Given the description of an element on the screen output the (x, y) to click on. 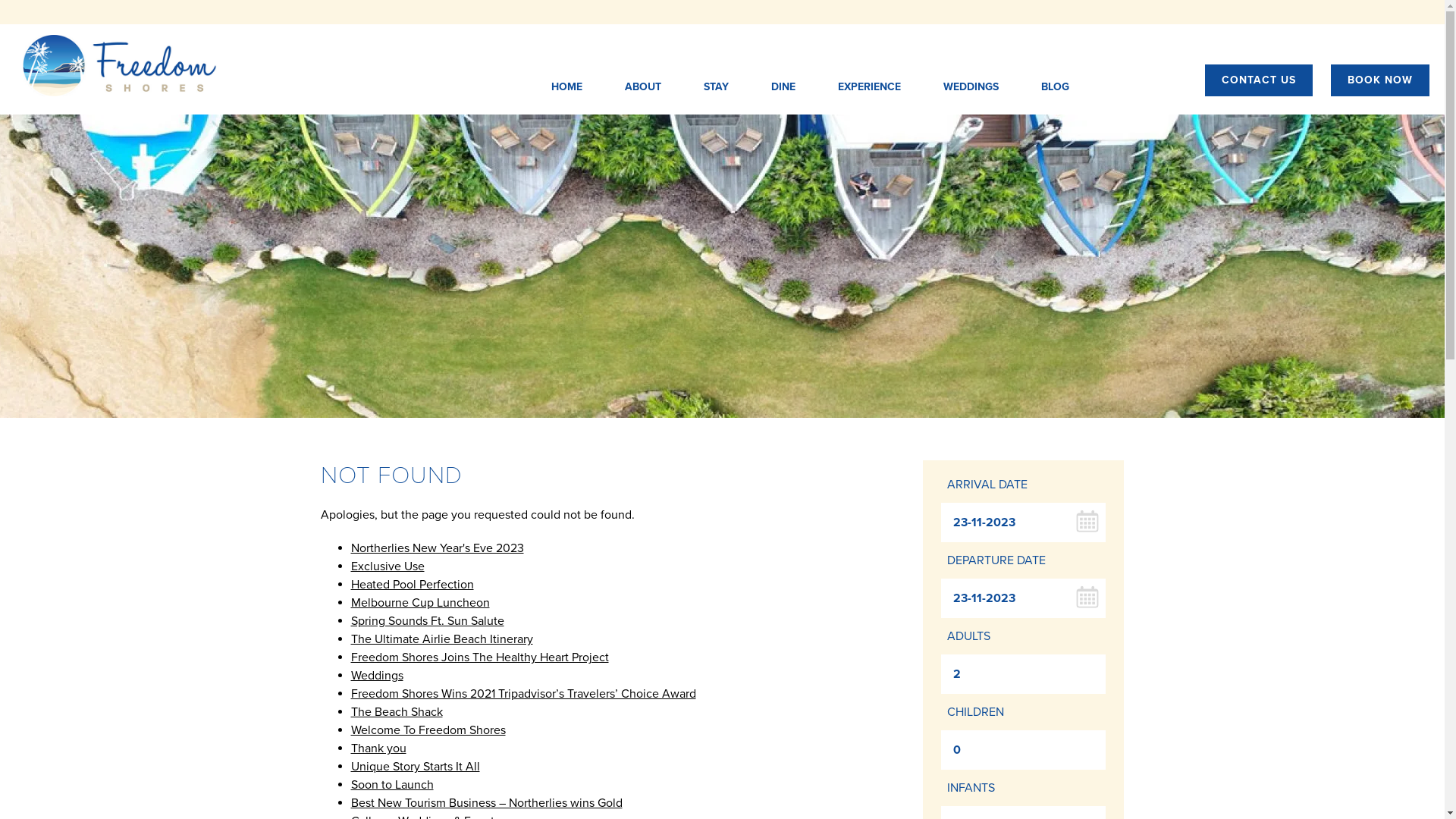
Freedom Shores Joins The Healthy Heart Project Element type: text (479, 657)
EXPERIENCE Element type: text (868, 87)
Weddings Element type: text (376, 675)
Soon to Launch Element type: text (391, 784)
The Beach Shack Element type: text (396, 711)
Thank you Element type: text (377, 748)
HOME Element type: text (565, 87)
Exclusive Use Element type: text (386, 566)
The Ultimate Airlie Beach Itinerary Element type: text (441, 638)
Spring Sounds Ft. Sun Salute Element type: text (426, 620)
BLOG Element type: text (1054, 87)
ABOUT Element type: text (642, 87)
DINE Element type: text (782, 87)
Unique Story Starts It All Element type: text (414, 766)
CONTACT US Element type: text (1258, 80)
Melbourne Cup Luncheon Element type: text (419, 602)
STAY Element type: text (715, 87)
WEDDINGS Element type: text (970, 87)
Northerlies New Year's Eve 2023 Element type: text (436, 547)
Heated Pool Perfection Element type: text (411, 584)
Welcome To Freedom Shores Element type: text (427, 729)
BOOK NOW Element type: text (1379, 80)
